Given the description of an element on the screen output the (x, y) to click on. 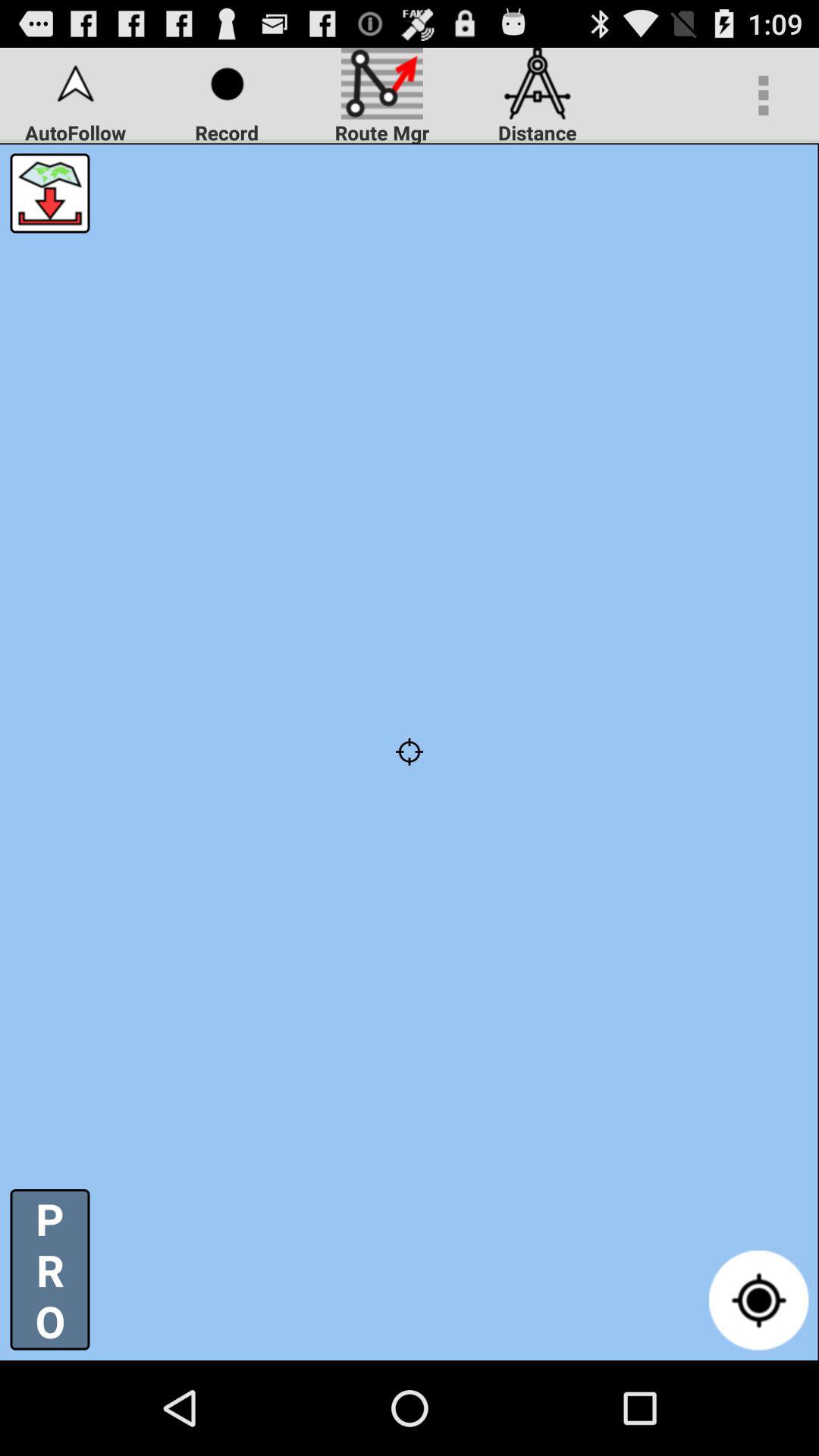
open map (49, 193)
